Given the description of an element on the screen output the (x, y) to click on. 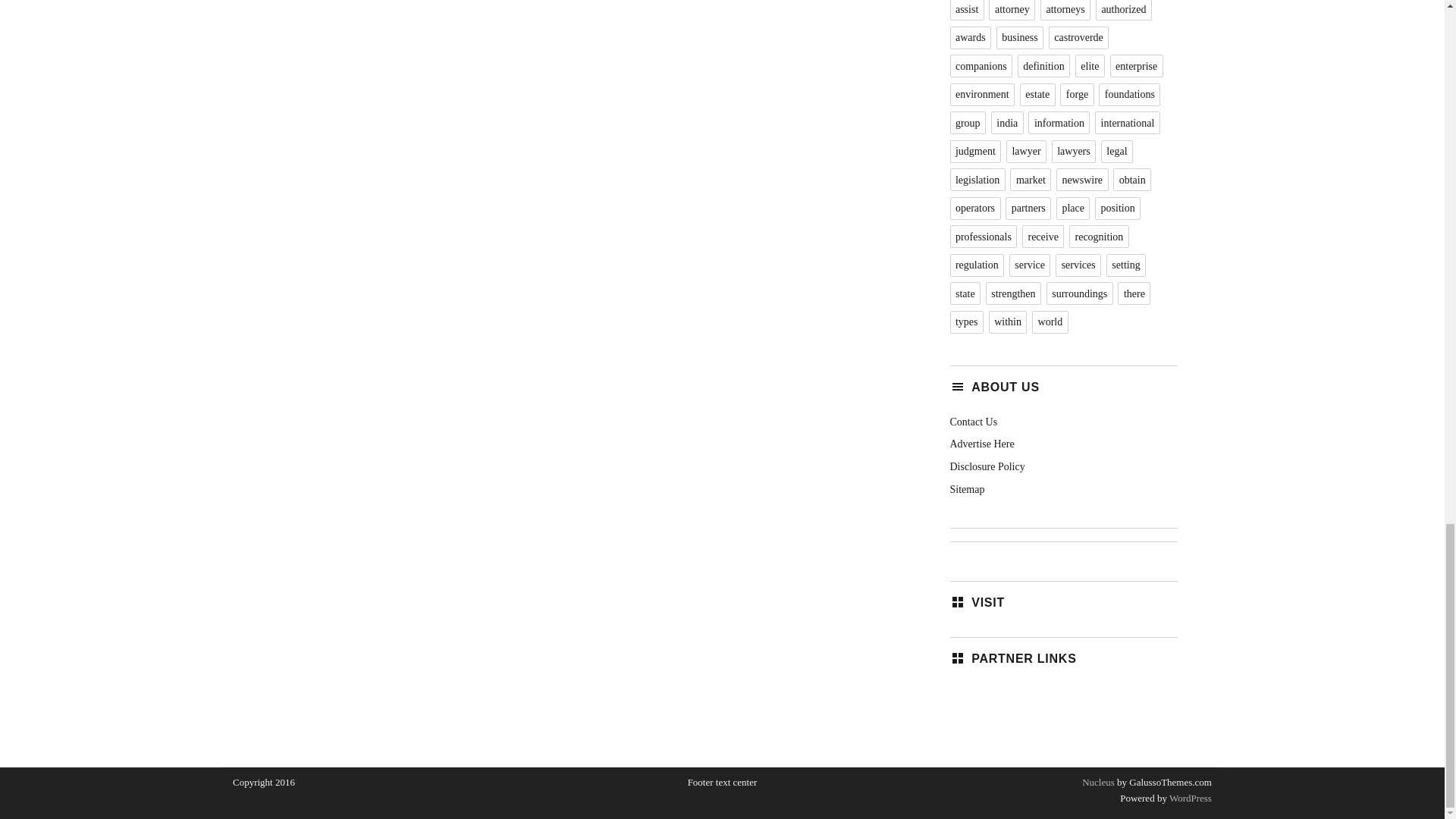
Semantic Personal Publishing Platform (1189, 797)
